Given the description of an element on the screen output the (x, y) to click on. 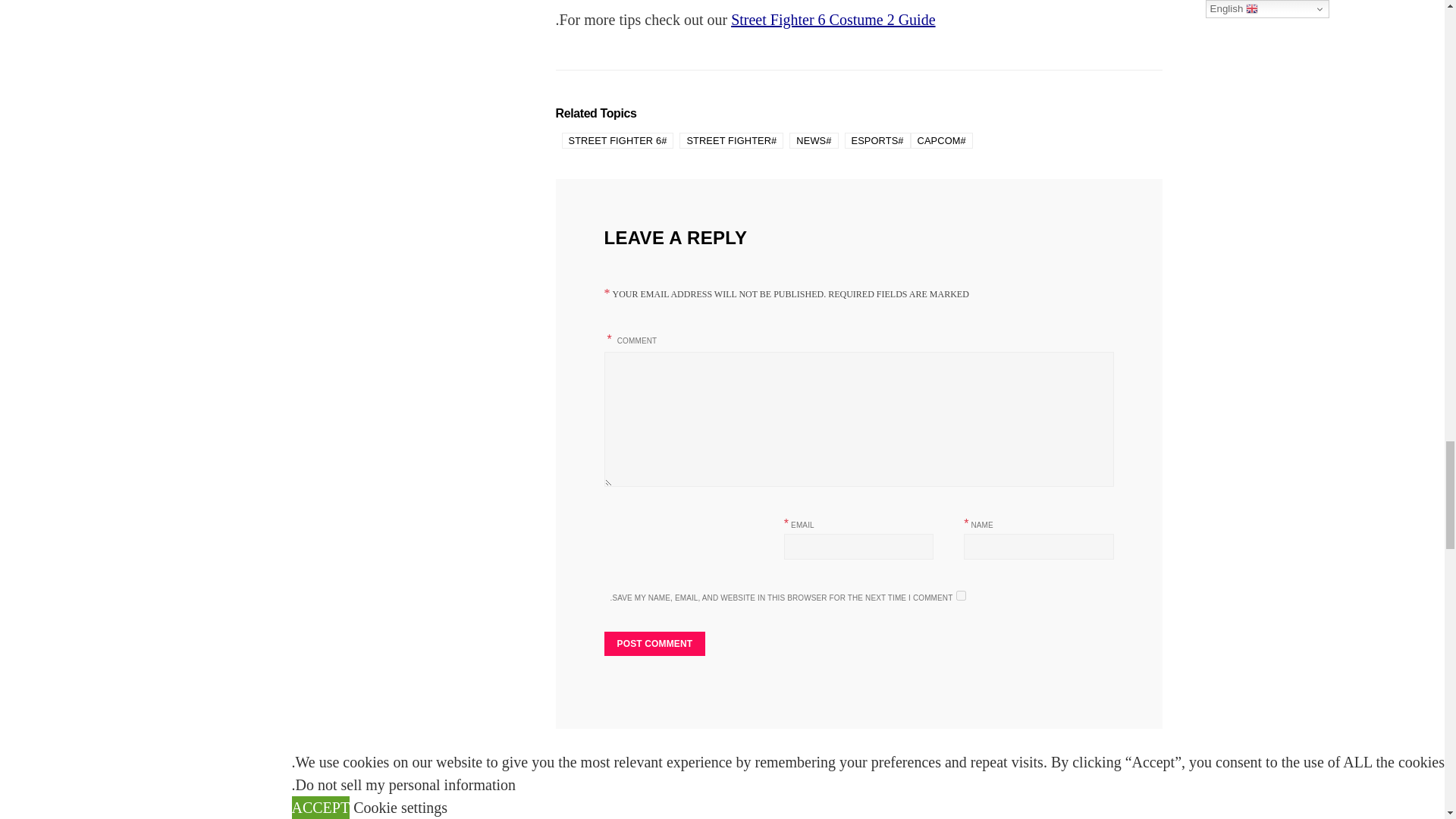
yes (961, 595)
Post Comment (654, 643)
